Given the description of an element on the screen output the (x, y) to click on. 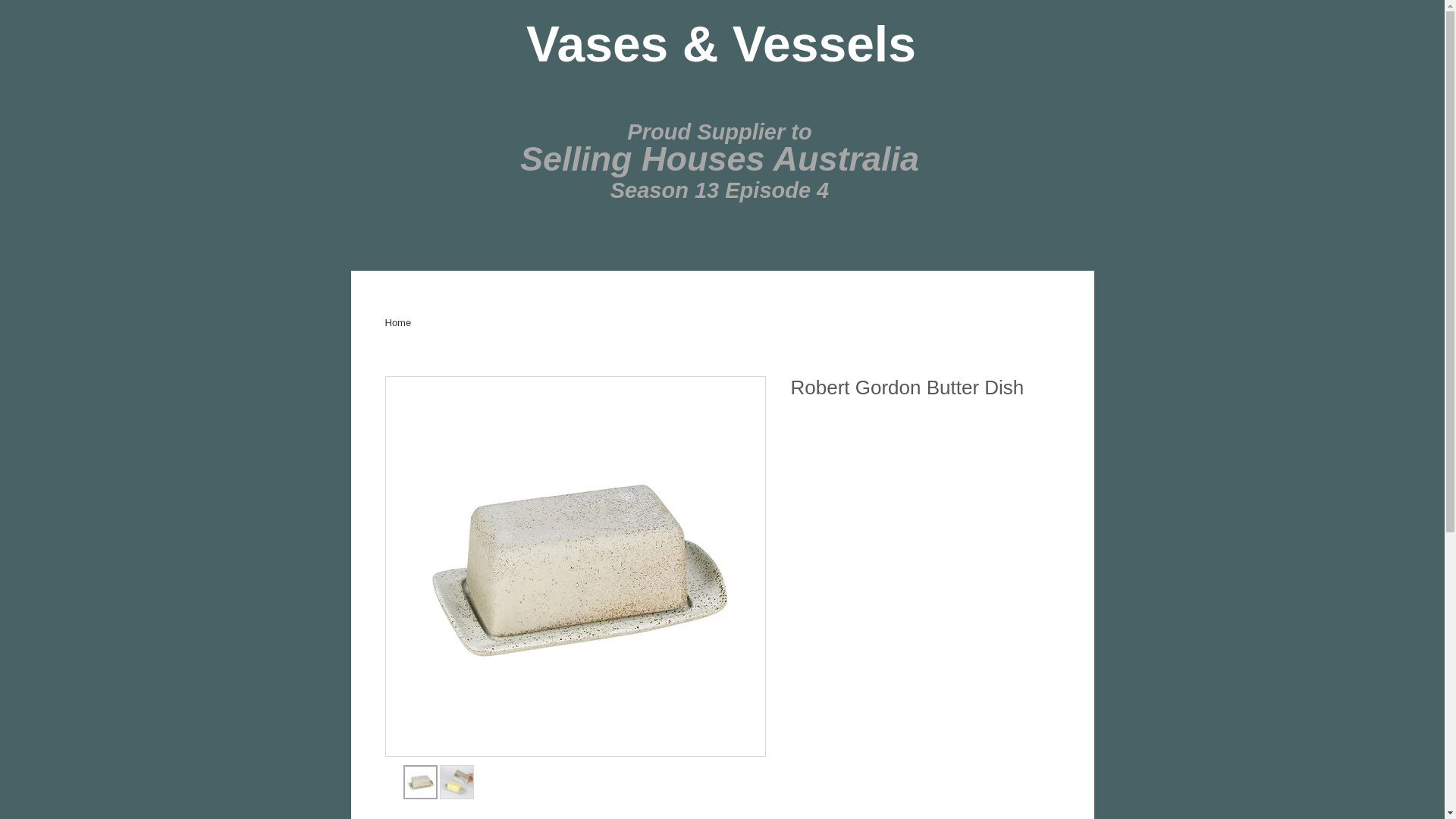
Vases & Vessels Element type: text (721, 43)
Home Element type: text (398, 322)
